Given the description of an element on the screen output the (x, y) to click on. 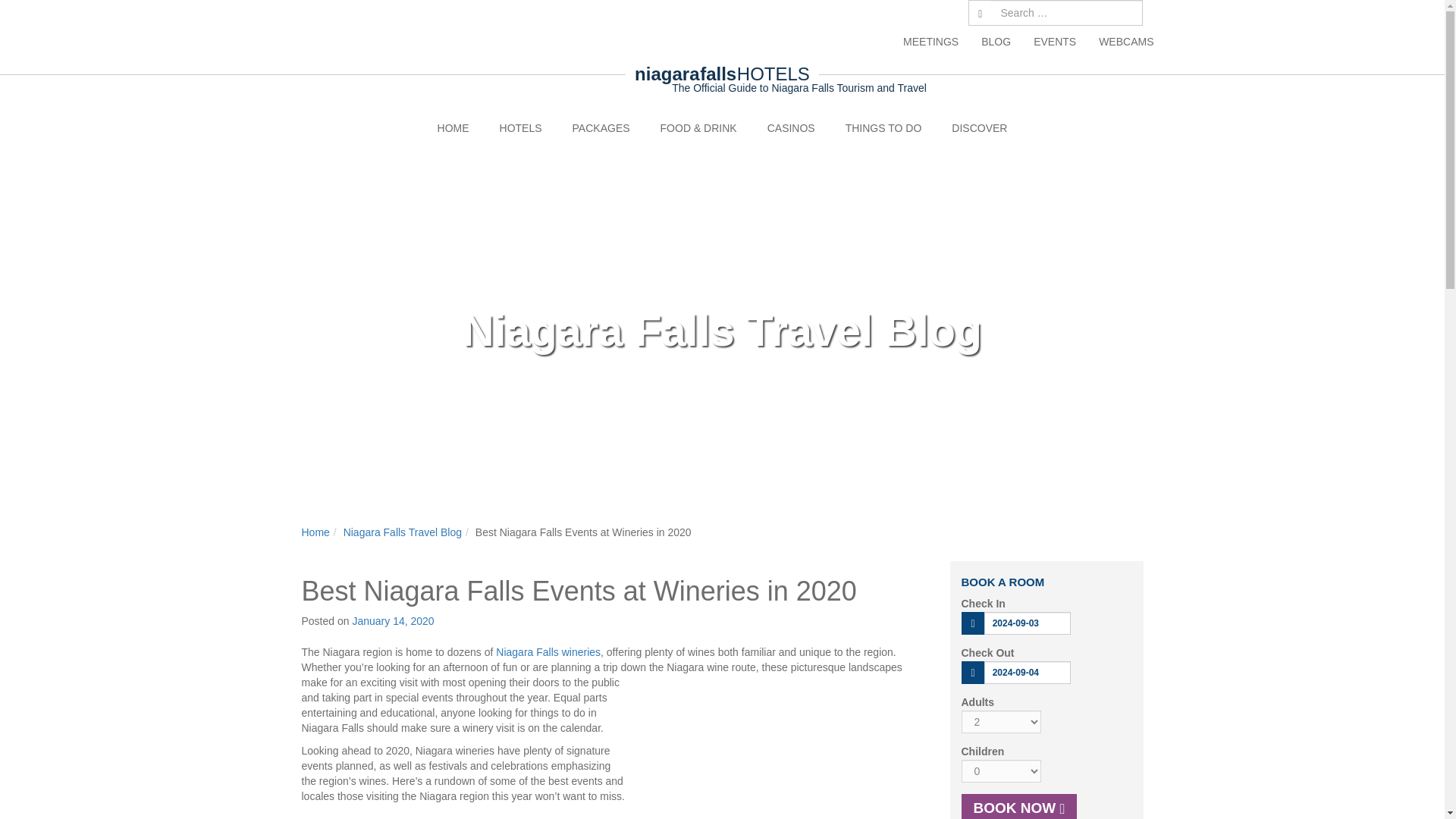
Niagara Falls Restaurants (698, 127)
BLOG (995, 41)
Niagara Falls Attractions (883, 127)
WEBCAMS (1120, 41)
Search for: (1066, 12)
Niagara Falls Events (1054, 41)
2024-09-03 (1027, 622)
HOME (453, 127)
2024-09-04 (1027, 671)
Niagara Falls Blog (995, 41)
